Given the description of an element on the screen output the (x, y) to click on. 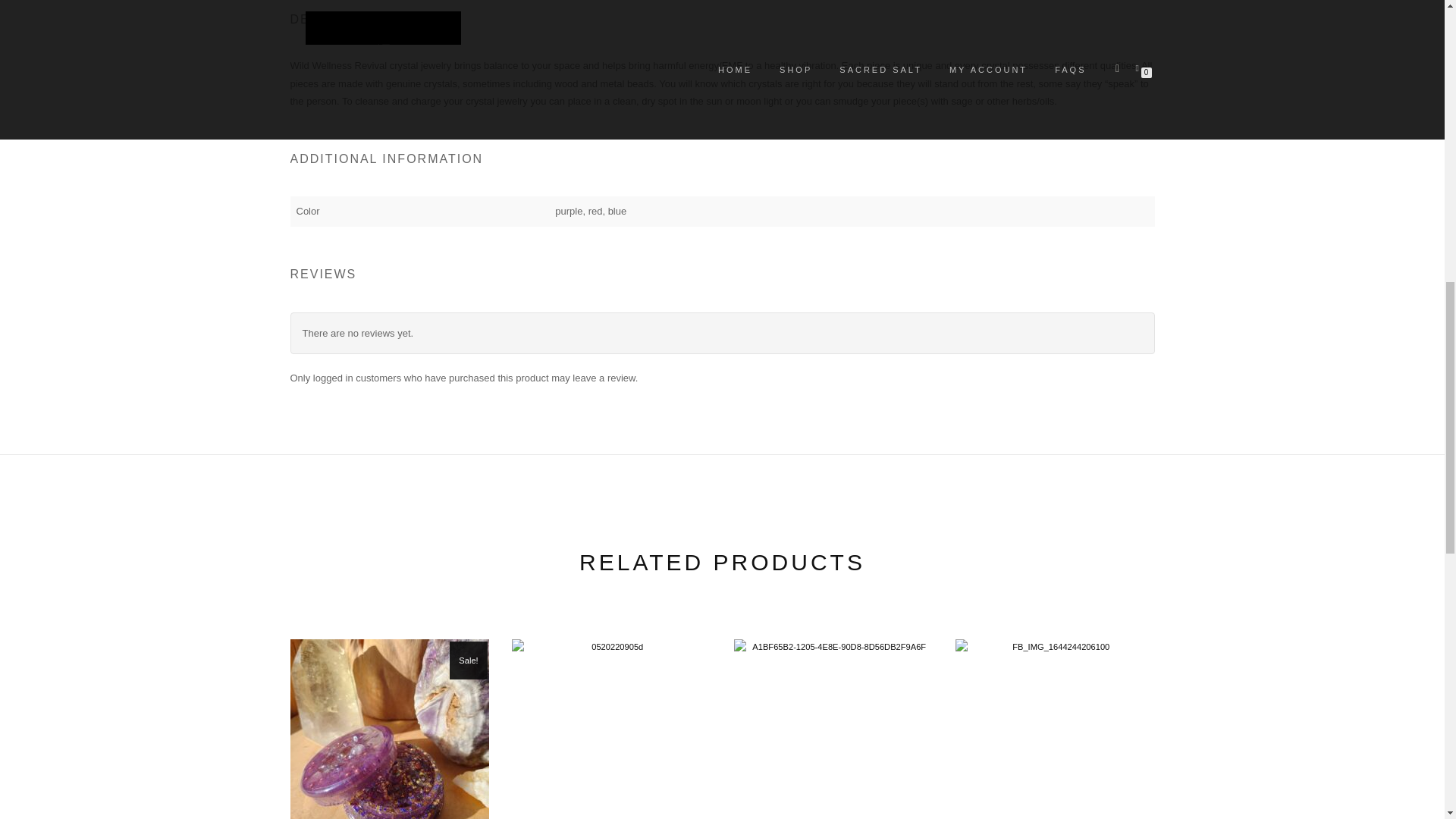
MINI MER TAILS-SEA TREASURES (611, 729)
A1BF65B2-1205-4E8E-90D8-8D56DB2F9A6F (832, 729)
0520220905d (611, 729)
